Given the description of an element on the screen output the (x, y) to click on. 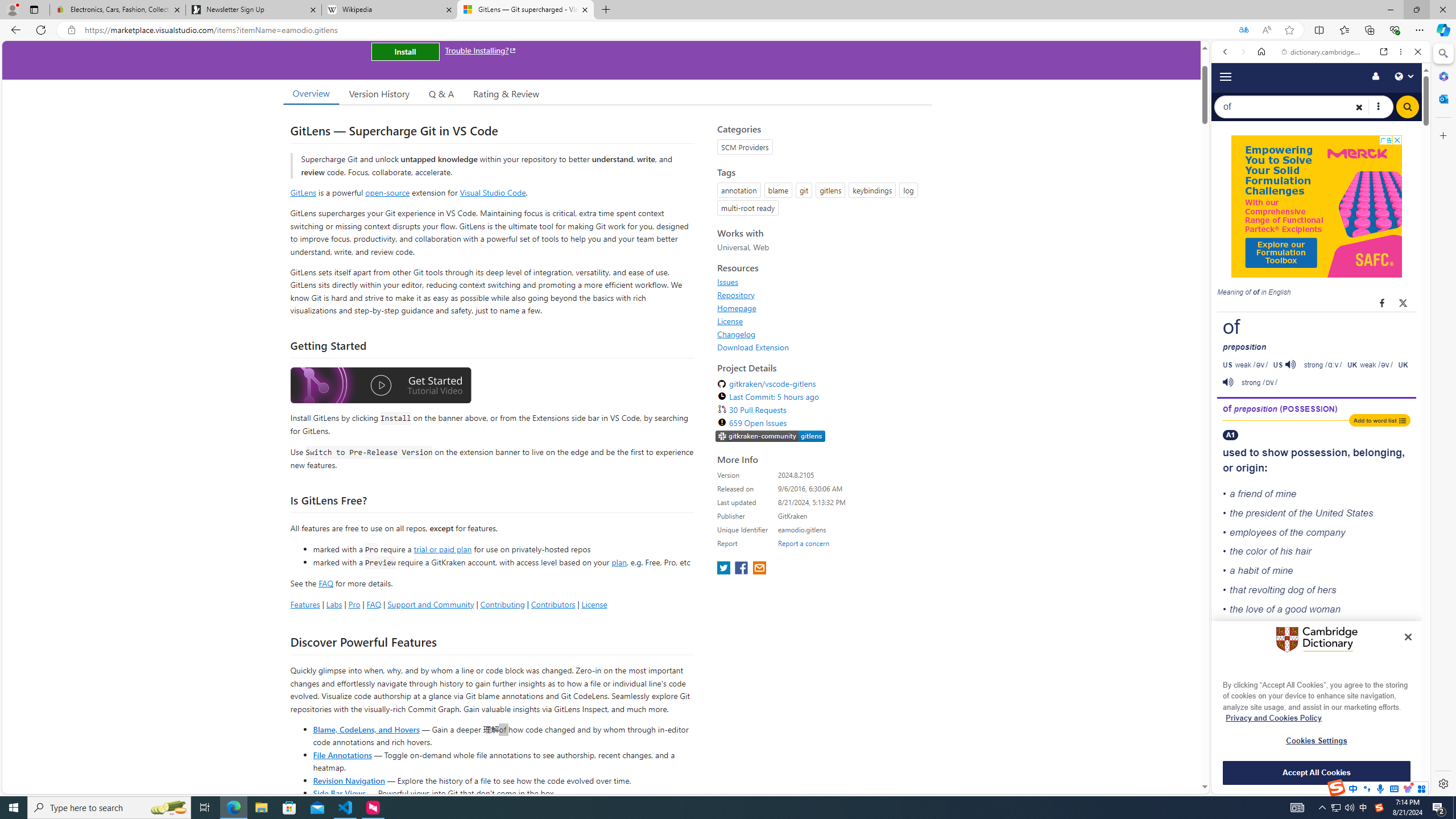
Homepage (737, 307)
Repository (735, 294)
president (1264, 512)
friend (1249, 493)
employees (1253, 532)
company (1325, 532)
More information about your privacy, opens in a new tab (1273, 718)
Open site navigation panel (1225, 76)
